Given the description of an element on the screen output the (x, y) to click on. 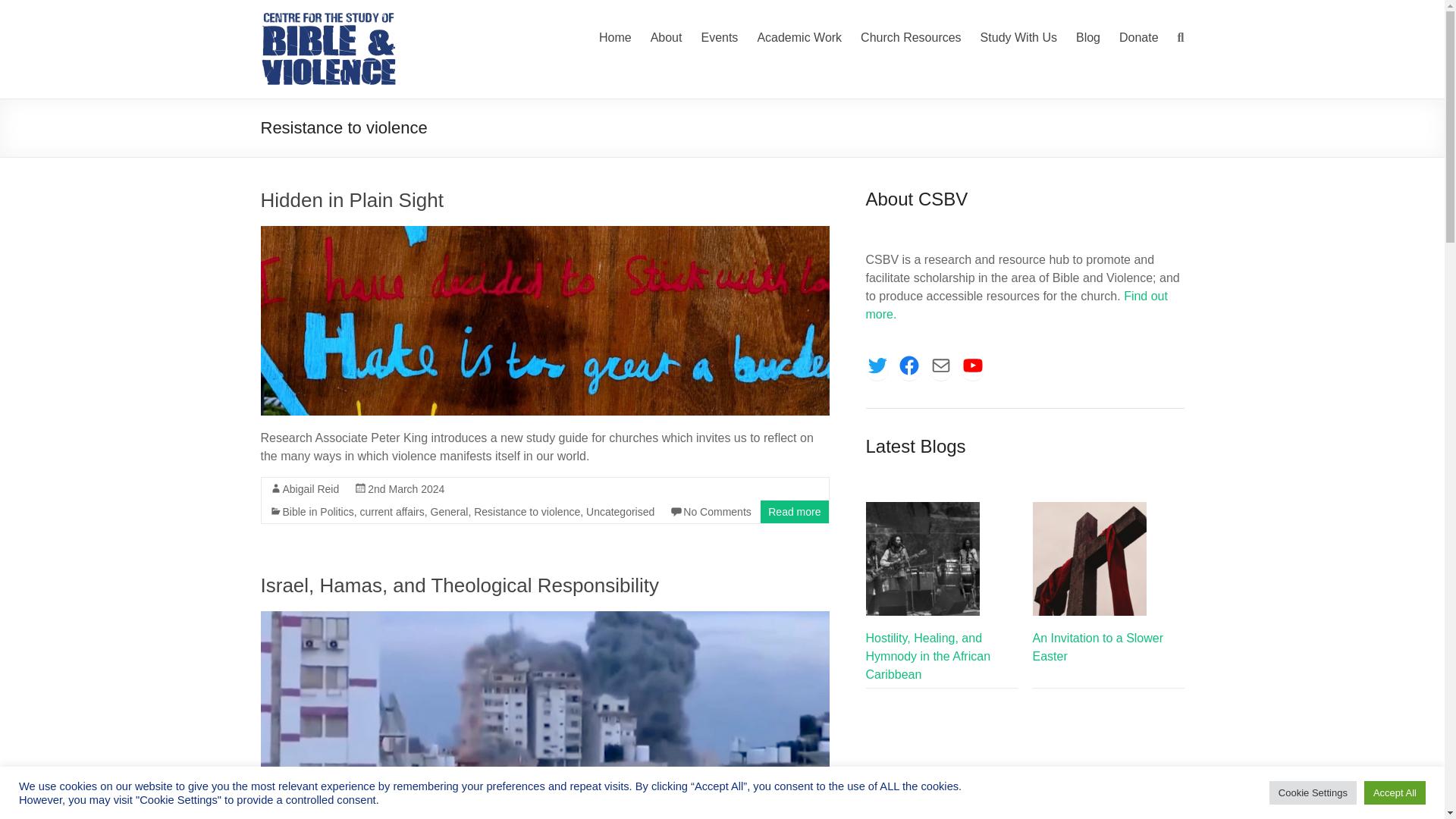
Study With Us (1018, 37)
Hidden in Plain Sight (544, 232)
CSBV (296, 30)
Home (614, 37)
Church Resources (910, 37)
Hidden in Plain Sight (544, 320)
9:37 am (406, 489)
Israel, Hamas, and Theological Responsibility (544, 705)
Hidden in Plain Sight (352, 200)
Israel, Hamas, and Theological Responsibility (459, 585)
Academic Work (799, 37)
CSBV (296, 30)
Israel, Hamas, and Theological Responsibility (544, 617)
About (666, 37)
Events (719, 37)
